Given the description of an element on the screen output the (x, y) to click on. 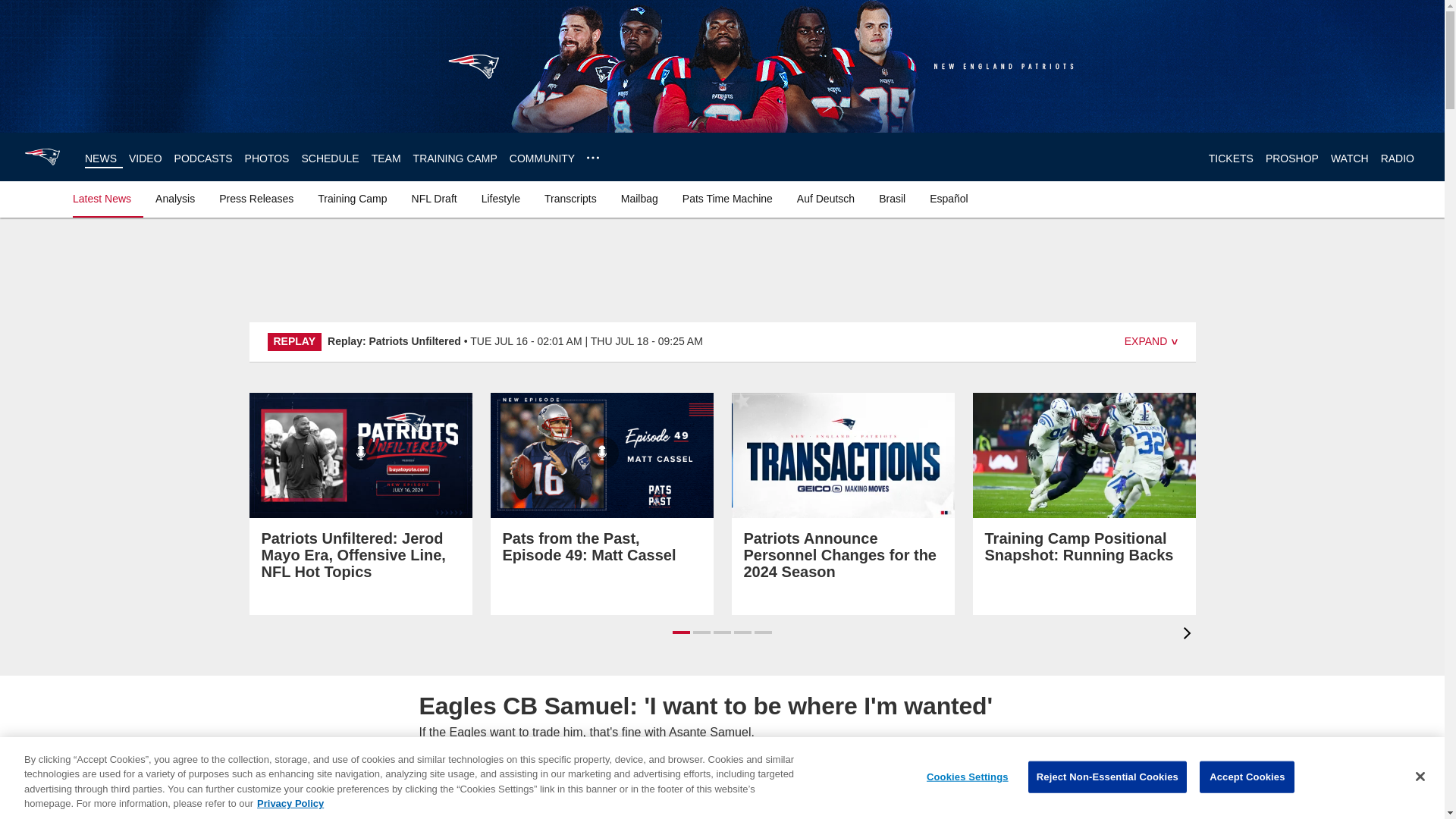
RADIO (1396, 158)
WATCH (1349, 158)
SCHEDULE (329, 158)
PROSHOP (1292, 158)
TICKETS (1230, 158)
Pats Time Machine (727, 198)
PHOTOS (266, 158)
Replay: Patriots Unfiltered (394, 340)
PODCASTS (203, 158)
TRAINING CAMP (455, 158)
Press Releases (255, 198)
... (592, 157)
EXPAND (1150, 341)
Lifestyle (500, 198)
Auf Deutsch (825, 198)
